Given the description of an element on the screen output the (x, y) to click on. 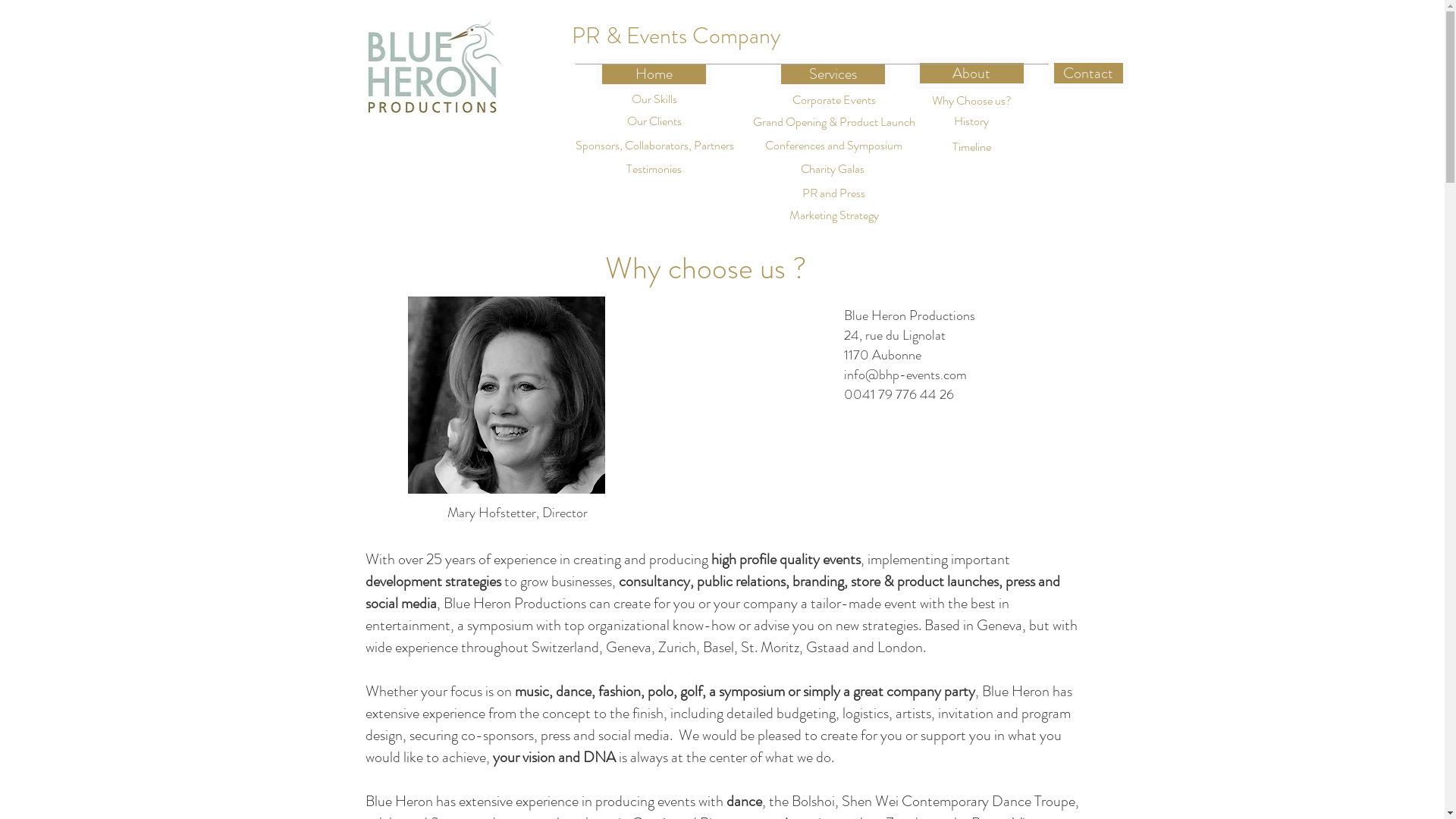
Grand Opening & Product Launch Element type: text (834, 121)
Wix Language Menu Element type: hover (998, 35)
Testimonies Element type: text (654, 169)
PR and Press Element type: text (832, 193)
About Element type: text (971, 72)
Sponsors, Collaborators, Partners Element type: text (654, 145)
Why Choose us? Element type: text (971, 100)
Marketing Strategy Element type: text (832, 215)
Services Element type: text (832, 73)
info@bhp-events.com Element type: text (904, 374)
Corporate Events Element type: text (833, 100)
History Element type: text (971, 121)
Timeline Element type: text (971, 147)
Contact Element type: text (1087, 72)
Charity Galas Element type: text (831, 169)
Our Clients Element type: text (653, 121)
Home Element type: text (653, 73)
Our Skills Element type: text (653, 99)
Conferences and Symposium Element type: text (833, 145)
